Given the description of an element on the screen output the (x, y) to click on. 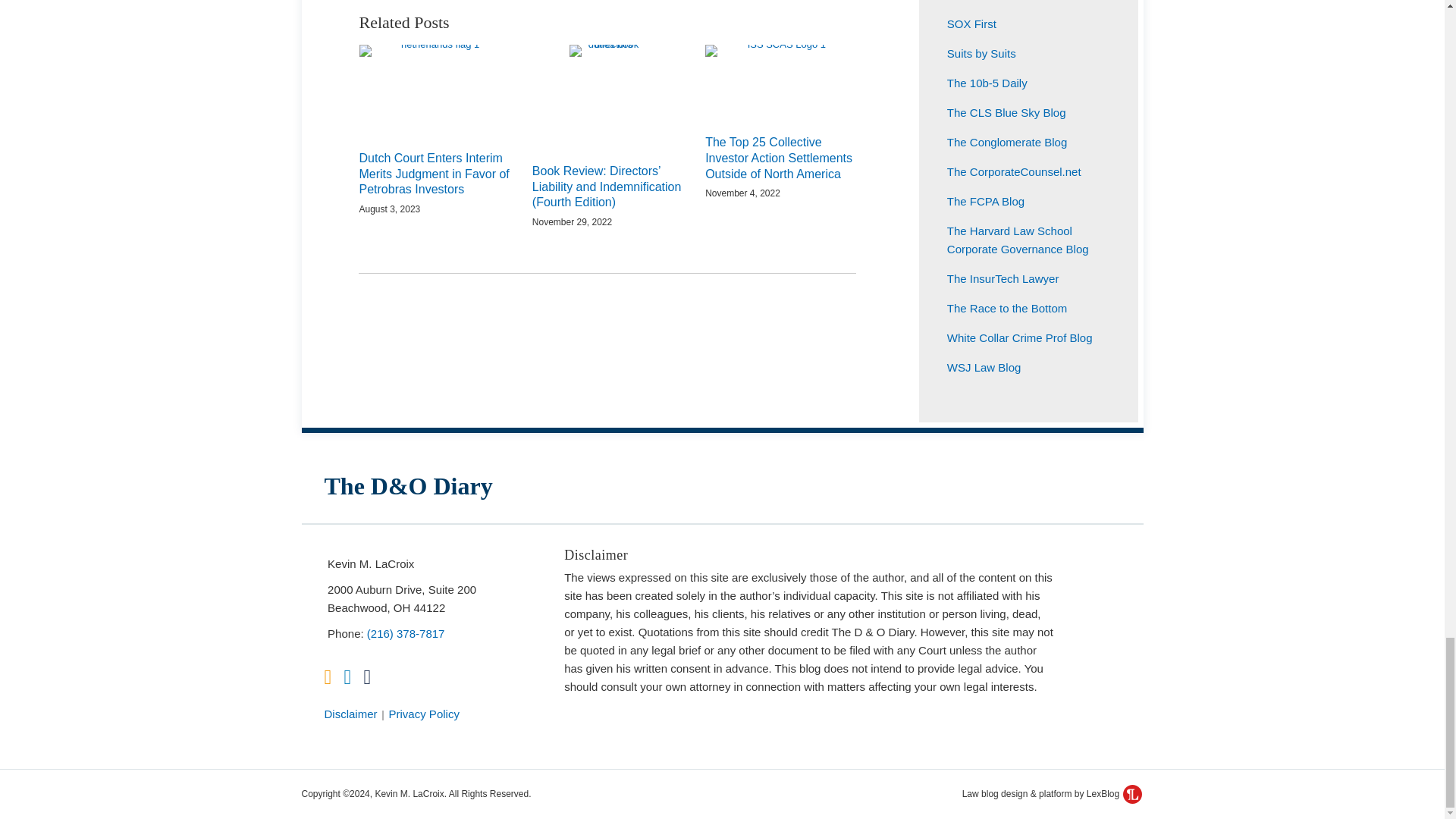
The InsurTech Lawyer (1003, 278)
LexBlog Logo (1131, 793)
